Given the description of an element on the screen output the (x, y) to click on. 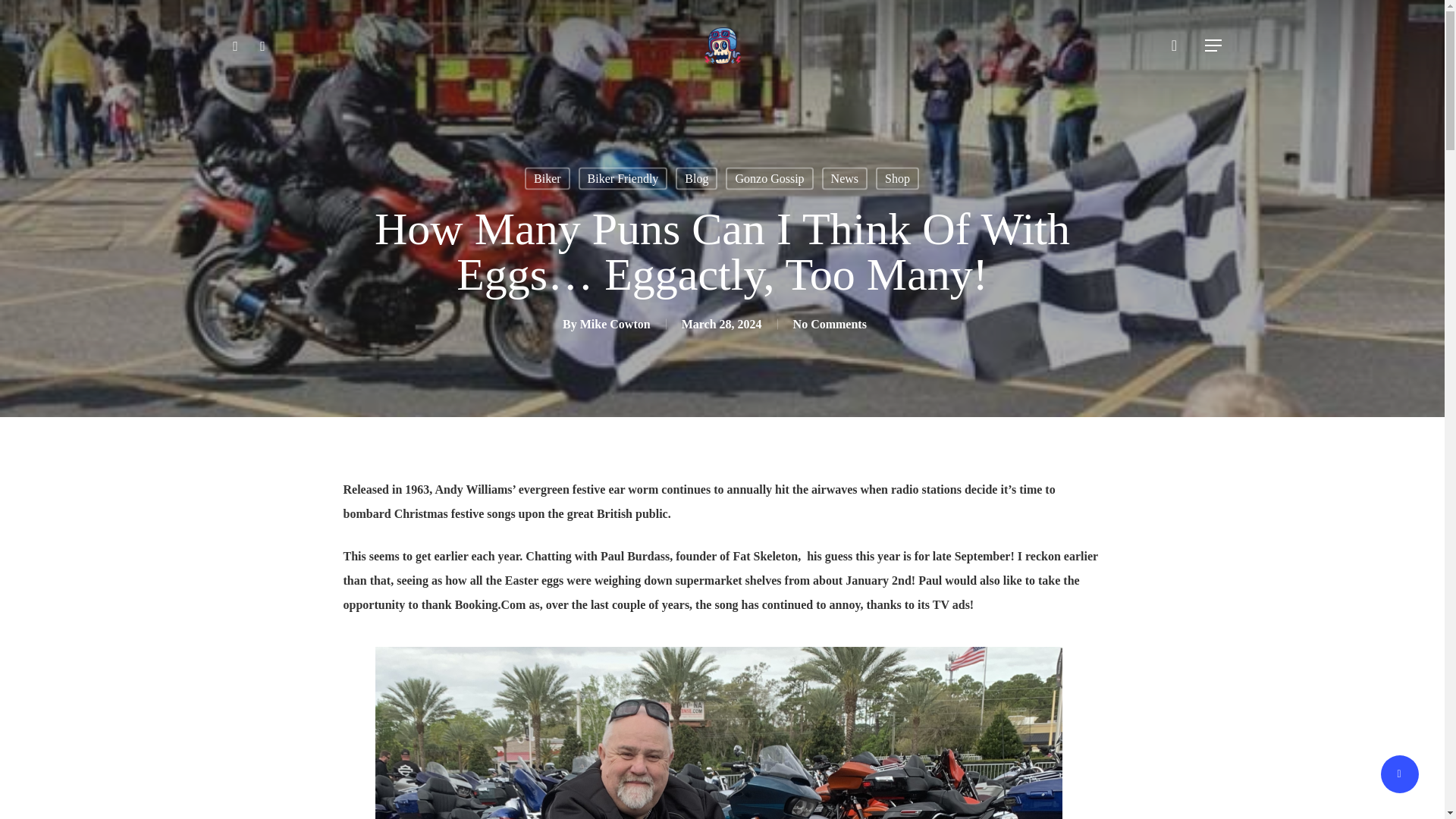
Gonzo Gossip (768, 178)
Mike Cowton (614, 323)
Facebook (234, 45)
Shop (897, 178)
News (844, 178)
Menu (1213, 45)
No Comments (829, 323)
Youtube (262, 45)
Posts by Mike Cowton (614, 323)
Biker Friendly (623, 178)
